Given the description of an element on the screen output the (x, y) to click on. 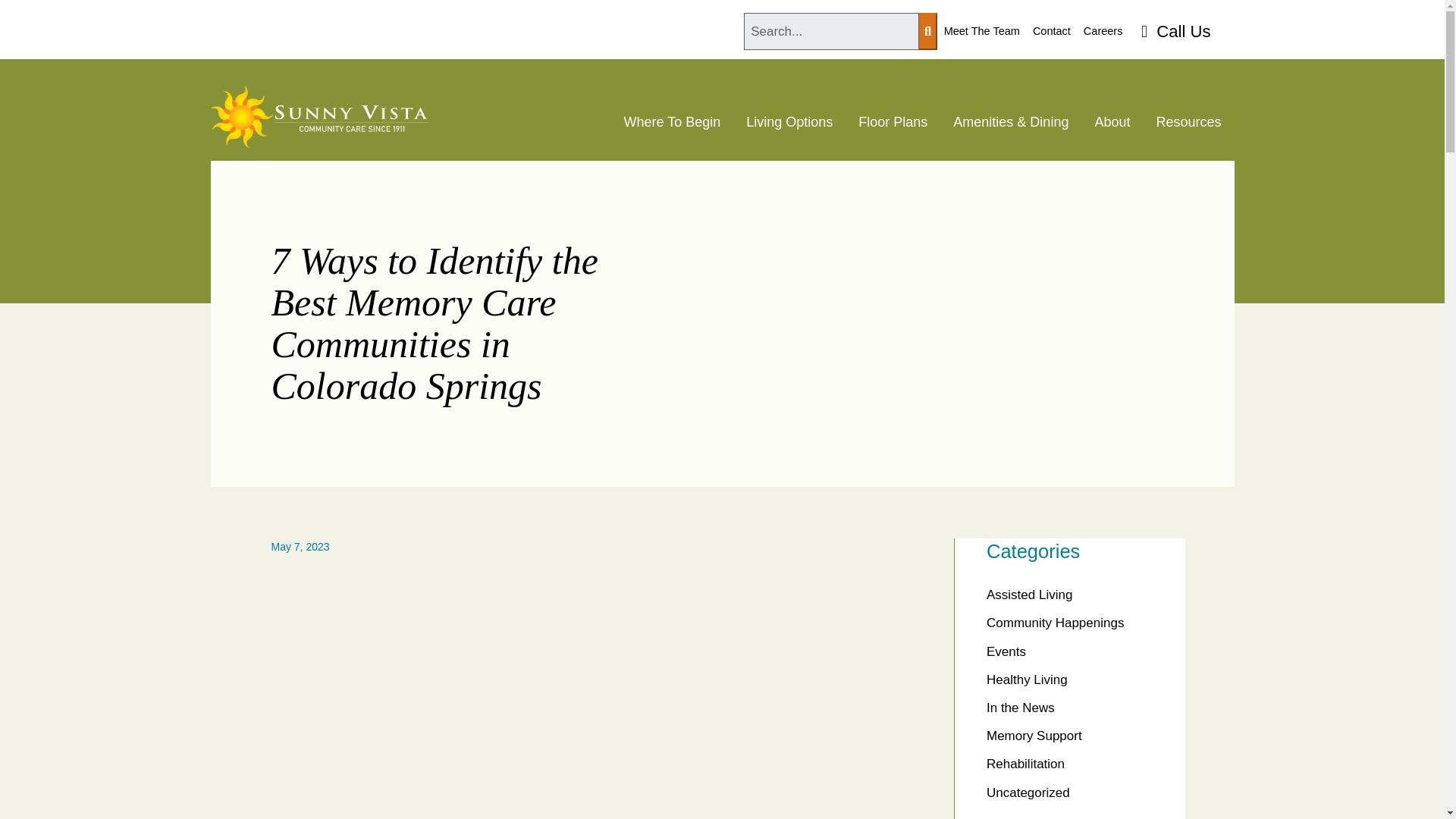
Where To Begin (671, 122)
Floor Plans (893, 122)
Living Options (788, 122)
Contact (1051, 31)
Careers (1103, 31)
Contact (1051, 31)
  Call Us (1176, 31)
Sunny Vista (320, 122)
Careers (1103, 31)
Living Options (788, 122)
